Given the description of an element on the screen output the (x, y) to click on. 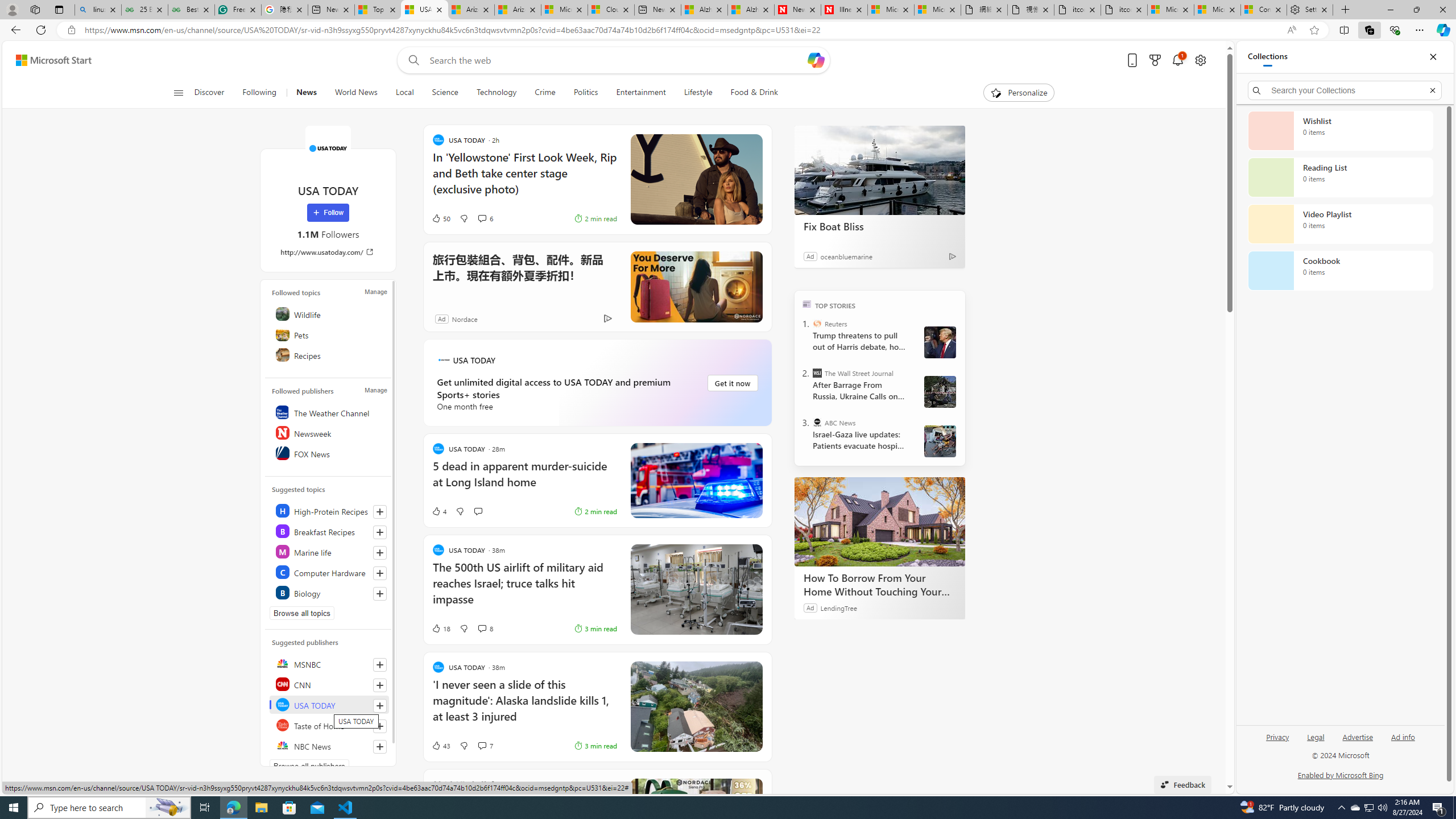
Consumer Health Data Privacy Policy (1263, 9)
View comments 8 Comment (481, 628)
Leadgen logo (443, 359)
View comments 7 Comment (485, 745)
FOX News (328, 452)
View comments 6 Comment (485, 218)
